Given the description of an element on the screen output the (x, y) to click on. 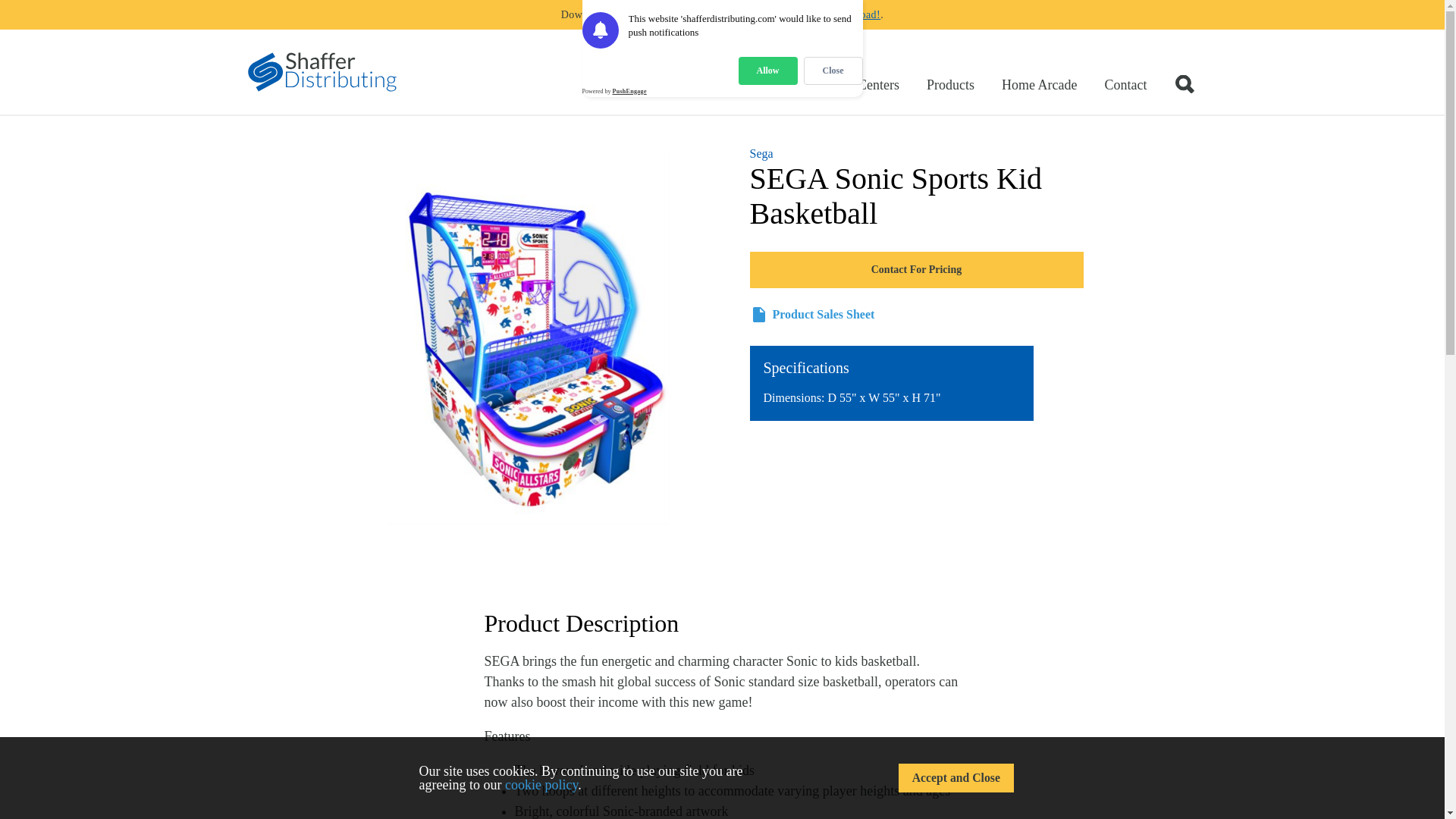
Products (950, 84)
cookie policy (541, 784)
Click Here to Download! (822, 14)
About (689, 84)
Contact (1125, 84)
Home Arcade (1039, 84)
Accept and Close (955, 777)
Family Entertainment Centers (816, 84)
